Given the description of an element on the screen output the (x, y) to click on. 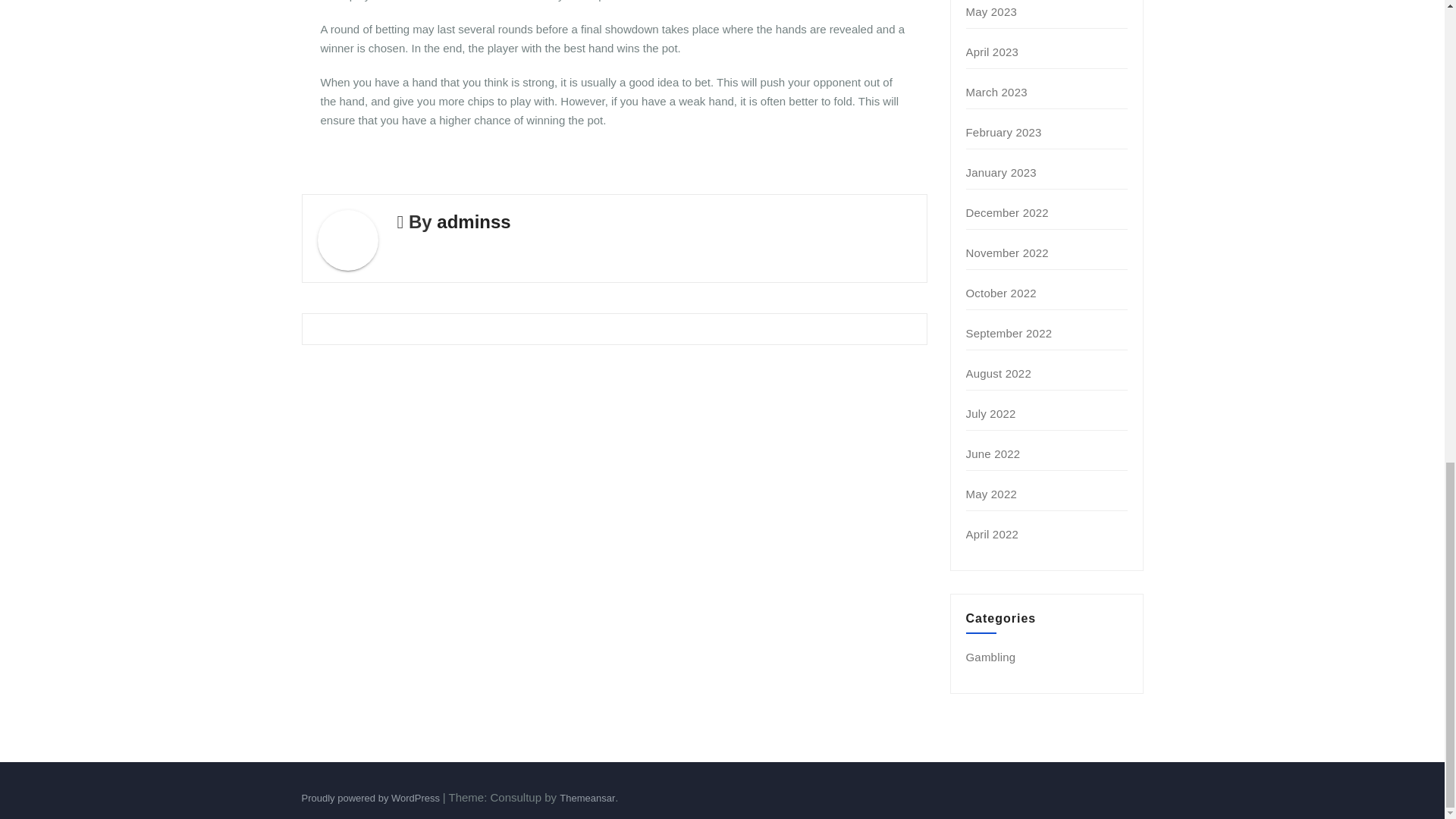
adminss (473, 221)
February 2023 (1004, 132)
October 2022 (1001, 292)
May 2022 (991, 493)
November 2022 (1007, 252)
January 2023 (1001, 172)
December 2022 (1007, 212)
August 2022 (998, 373)
June 2022 (993, 453)
March 2023 (996, 91)
Themeansar (586, 797)
September 2022 (1009, 332)
Gambling (991, 656)
April 2022 (992, 533)
July 2022 (991, 413)
